Given the description of an element on the screen output the (x, y) to click on. 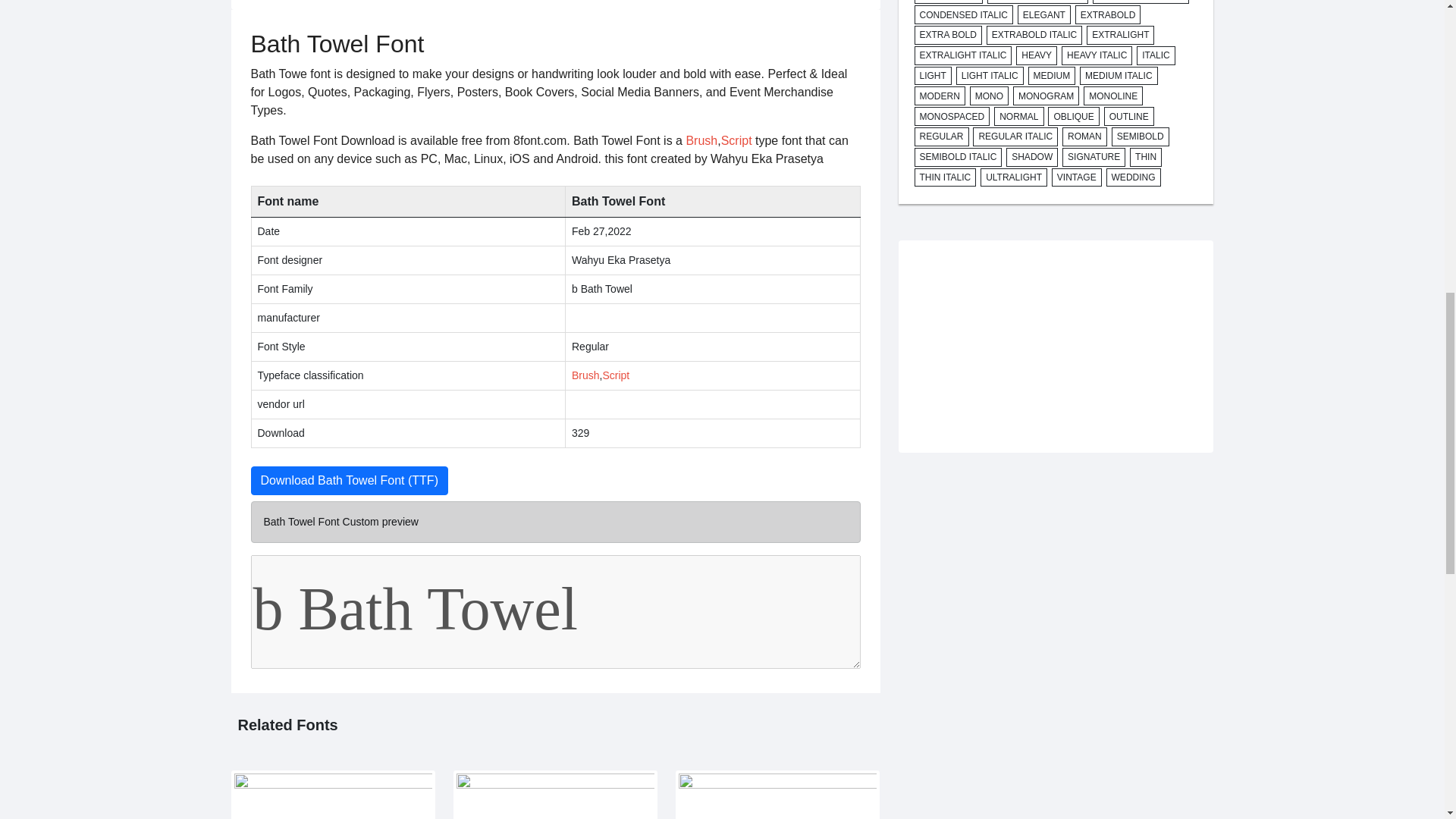
Script (615, 375)
Montagna Font (331, 794)
Script (736, 140)
Deolipa Shita Font (555, 794)
Blundell Font (777, 794)
Brush (585, 375)
Brush (701, 140)
